Given the description of an element on the screen output the (x, y) to click on. 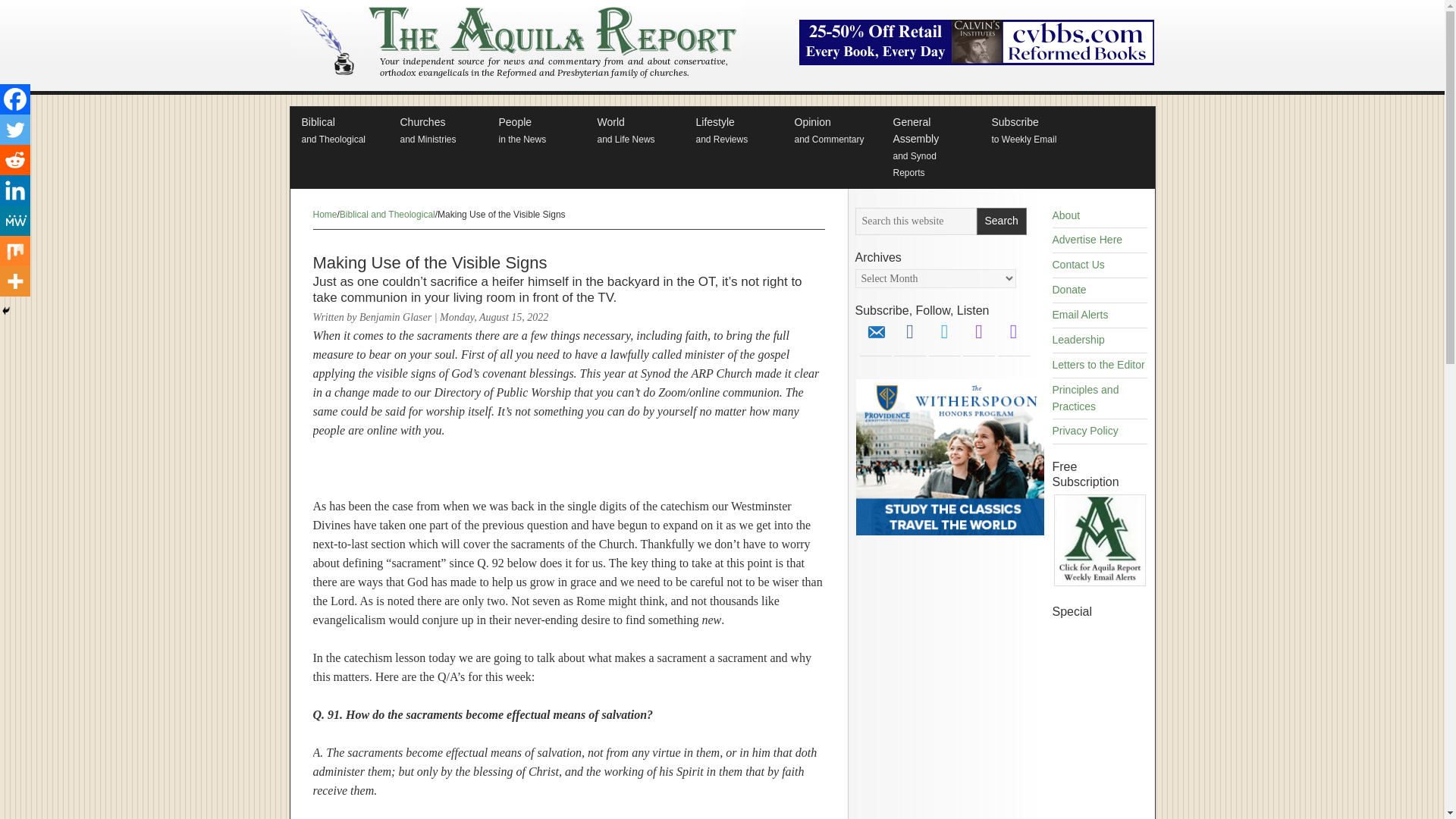
Search (1001, 221)
Facebook (15, 99)
Cumberland Valley Bible Book Service (976, 60)
Hide (5, 310)
MeWe (437, 131)
Advertise in The Aquila Report (15, 220)
Reddit (733, 131)
Search (535, 131)
Facebook (338, 131)
